Given the description of an element on the screen output the (x, y) to click on. 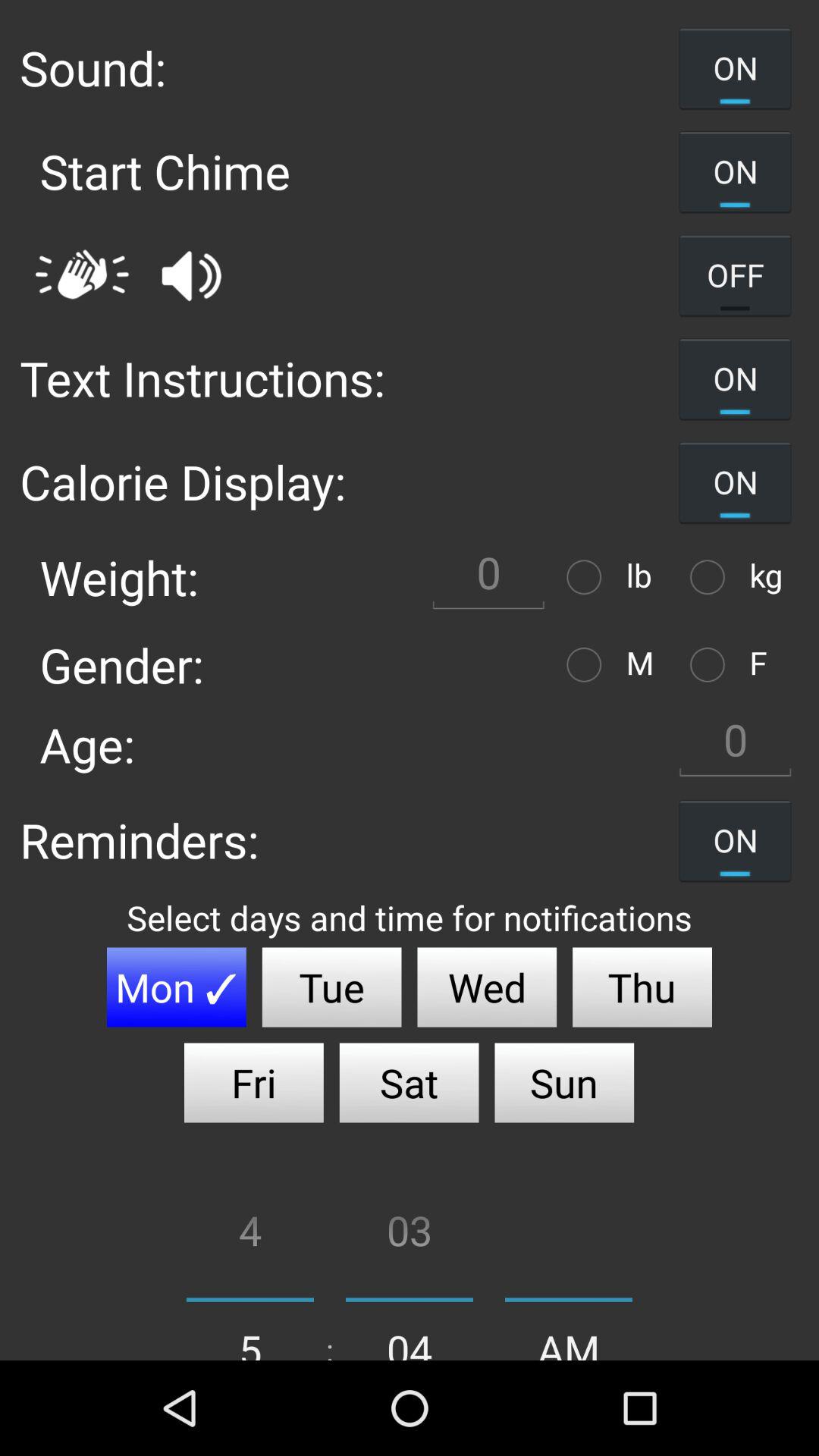
select kg option (711, 577)
